Given the description of an element on the screen output the (x, y) to click on. 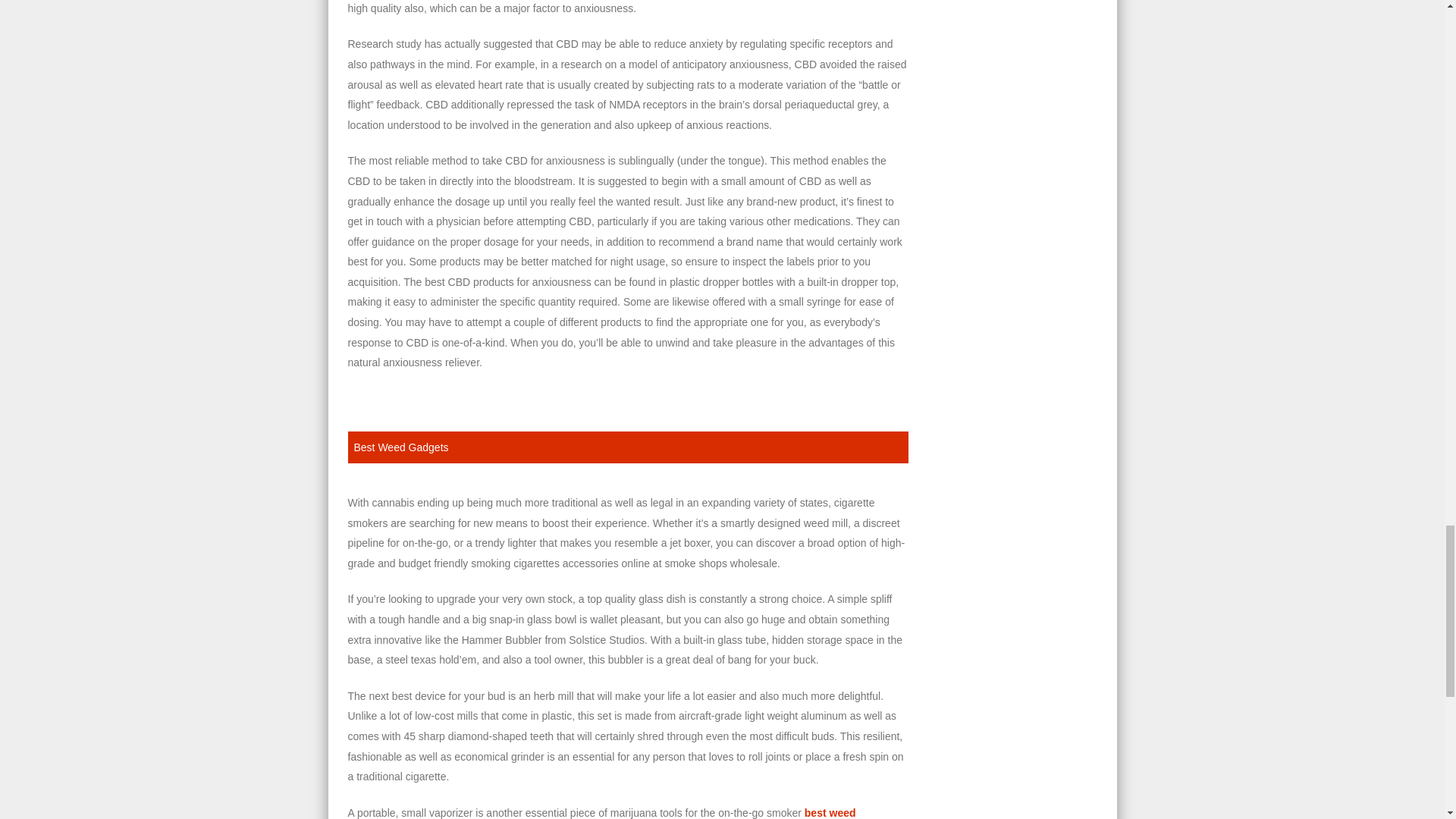
Best Weed Gadgets (400, 447)
best weed accessories (601, 812)
